Given the description of an element on the screen output the (x, y) to click on. 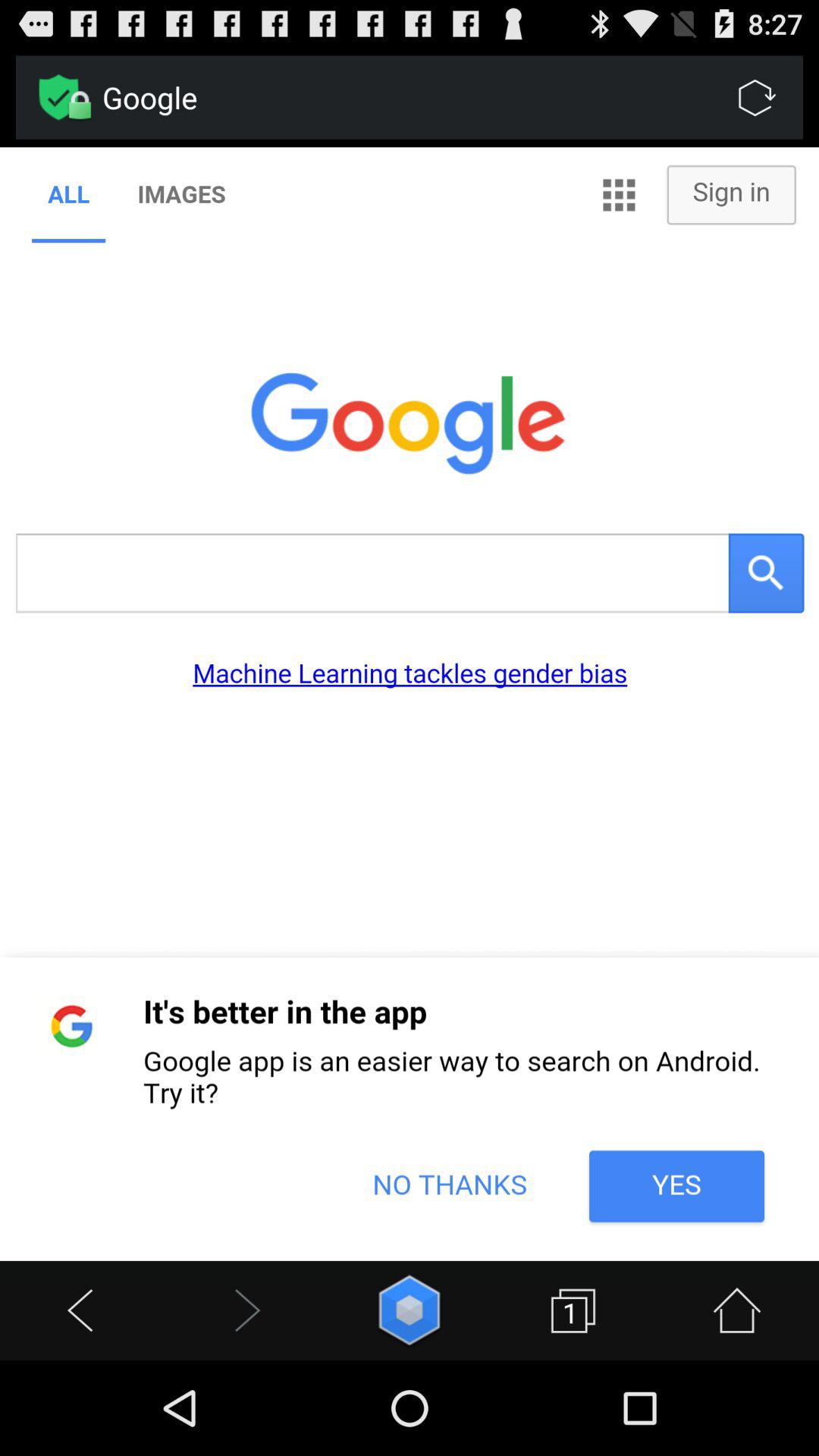
color print (409, 703)
